Given the description of an element on the screen output the (x, y) to click on. 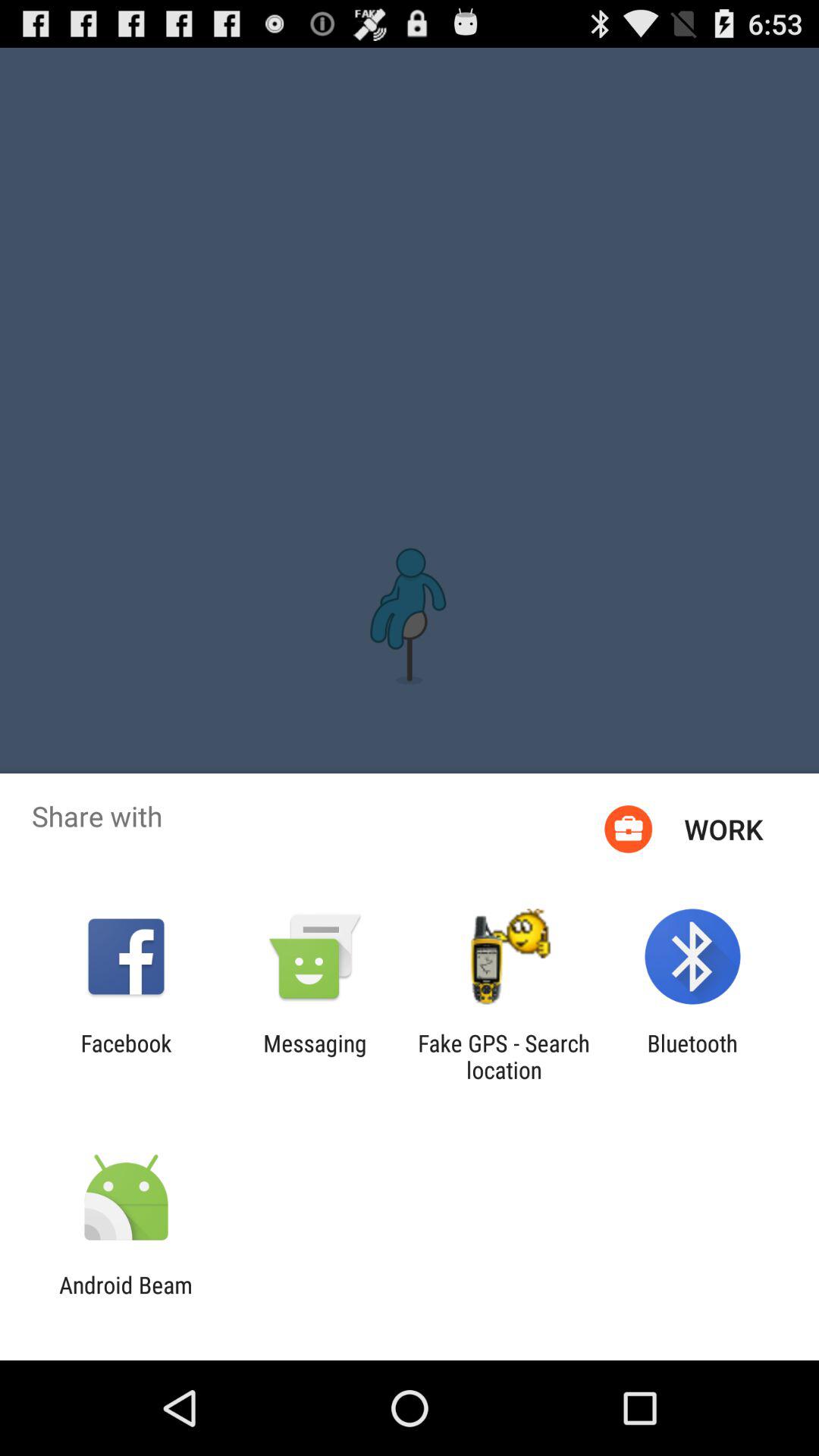
choose the icon next to the messaging (125, 1056)
